Given the description of an element on the screen output the (x, y) to click on. 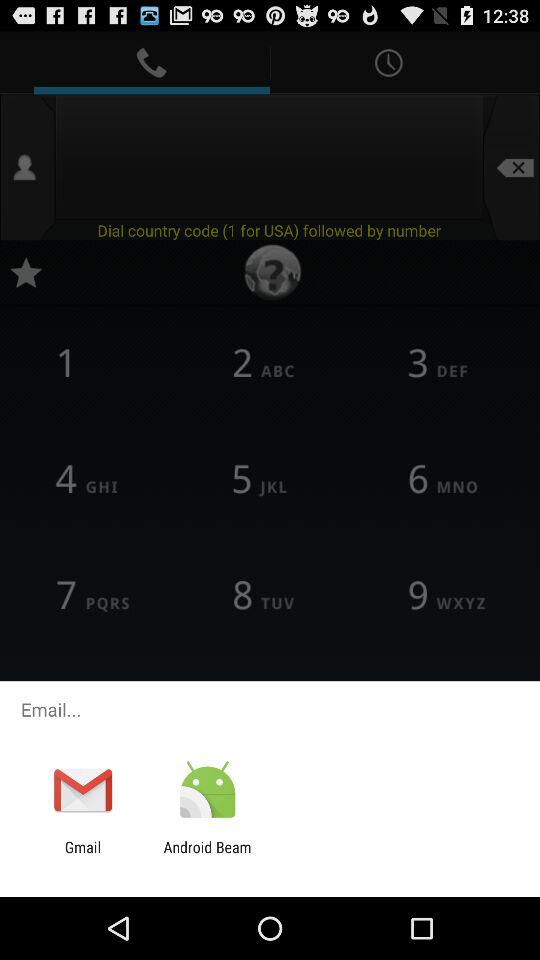
tap the icon to the right of gmail app (207, 856)
